Given the description of an element on the screen output the (x, y) to click on. 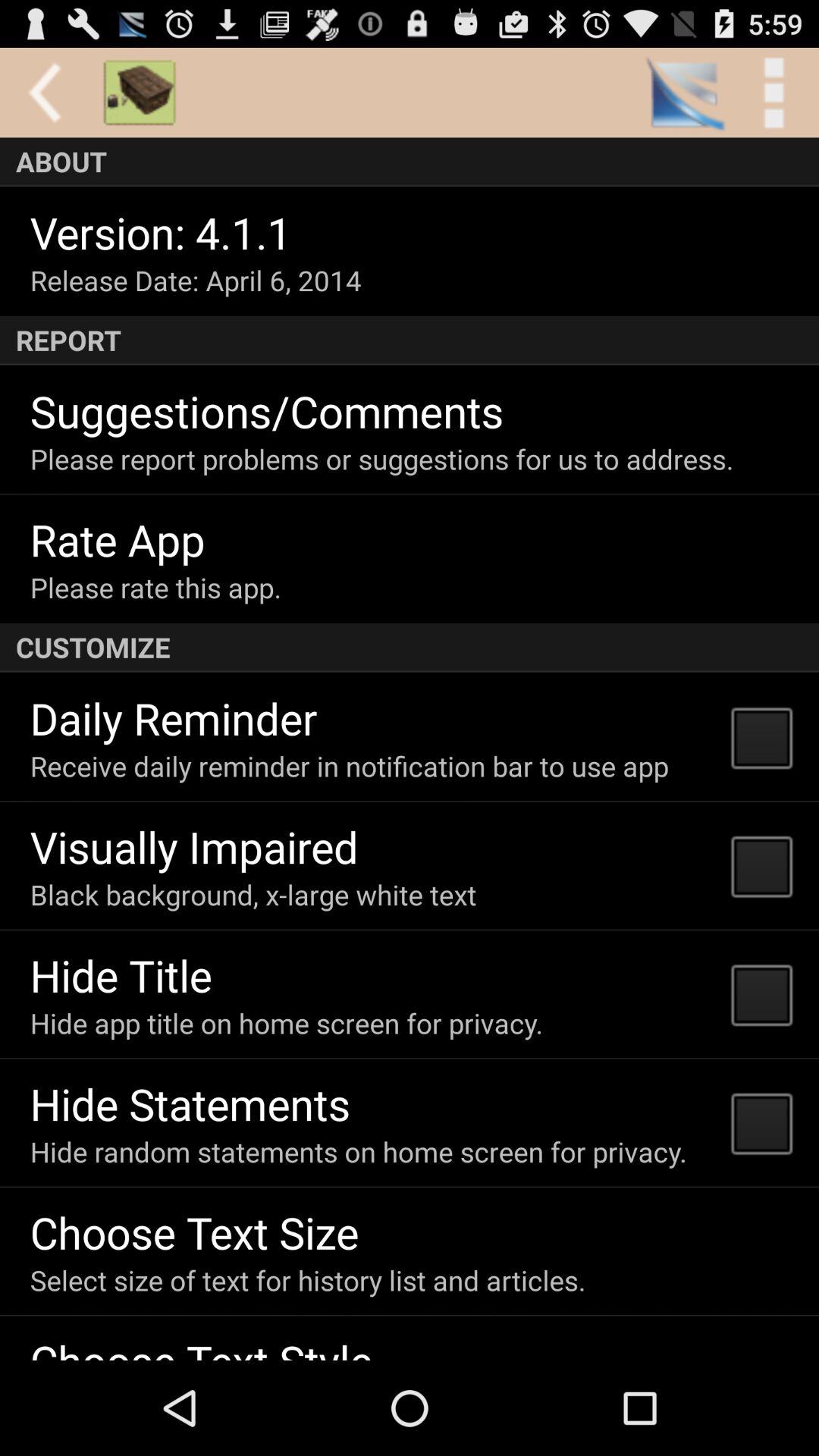
tap the icon above daily reminder item (409, 647)
